Given the description of an element on the screen output the (x, y) to click on. 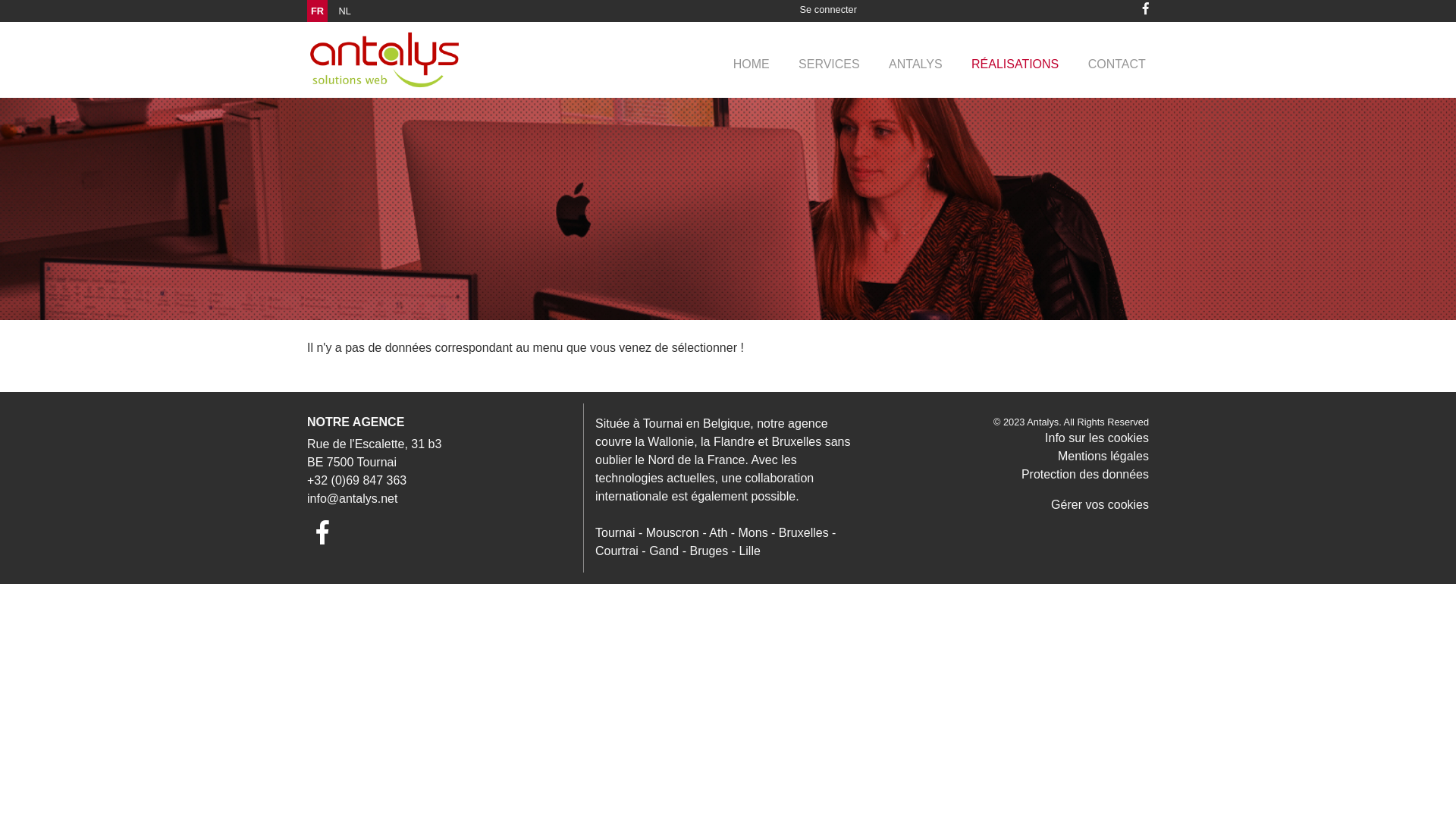
NL Element type: text (344, 10)
Se connecter Element type: text (828, 9)
SERVICES Element type: text (829, 64)
Antalys Element type: hover (384, 59)
CONTACT Element type: text (1116, 64)
ANTALYS Element type: text (915, 64)
HOME Element type: text (751, 64)
Info sur les cookies Element type: text (1096, 437)
Antalys Element type: text (1042, 421)
info@antalys.net Element type: text (352, 498)
